Given the description of an element on the screen output the (x, y) to click on. 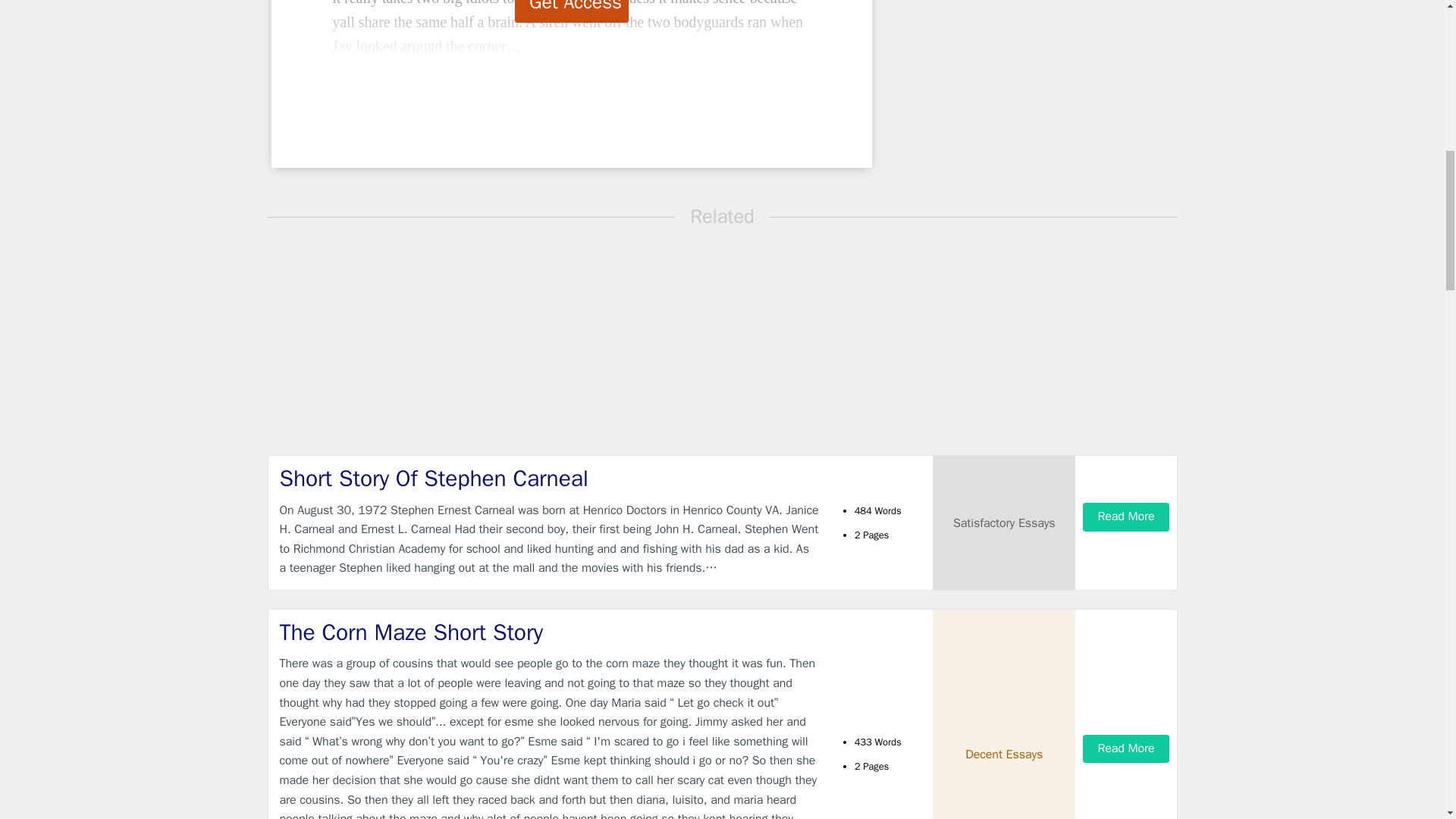
Read More (1126, 516)
Get Access (571, 11)
The Corn Maze Short Story (548, 632)
Short Story Of Stephen Carneal (548, 478)
Read More (1126, 748)
